Given the description of an element on the screen output the (x, y) to click on. 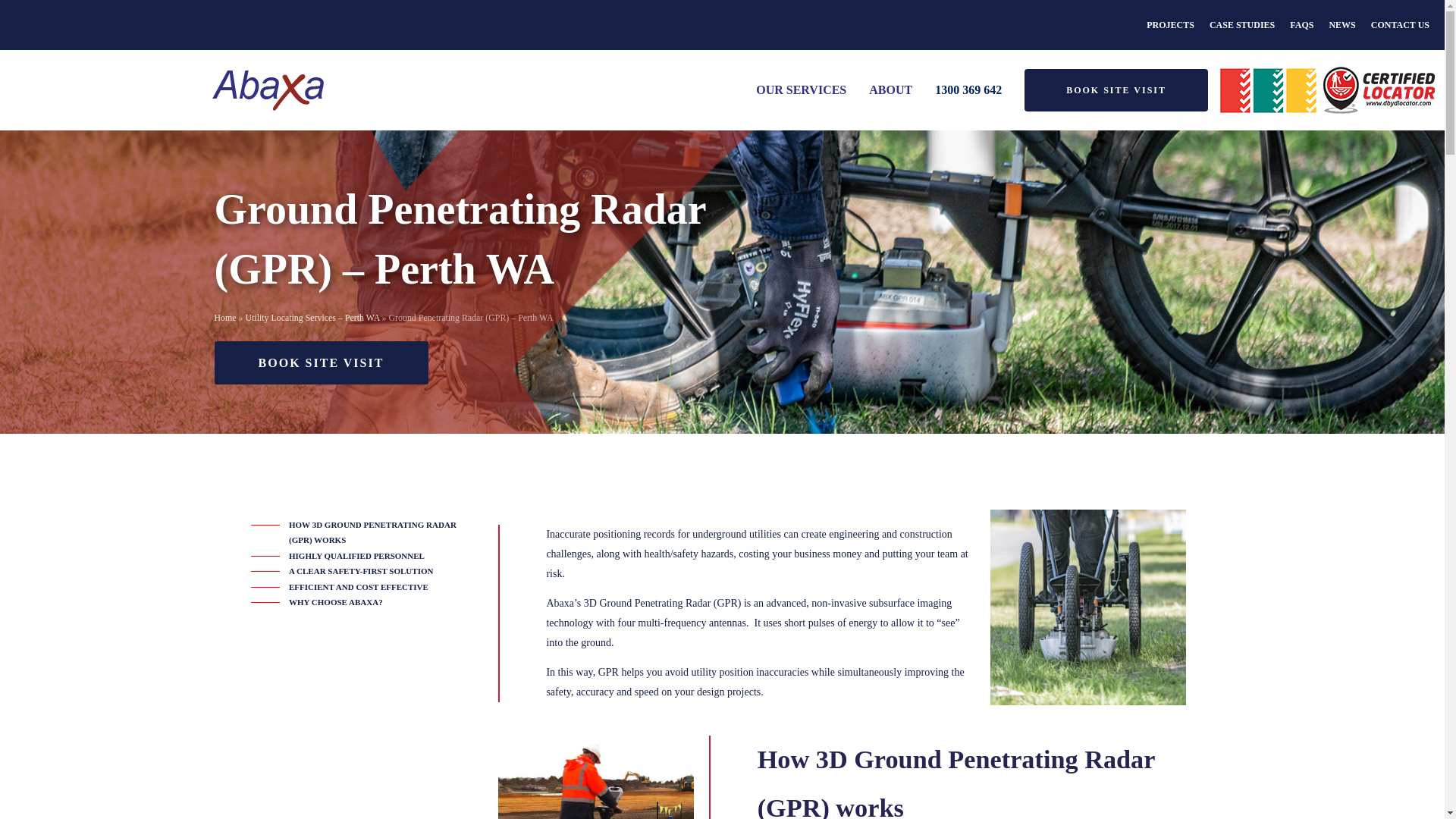
PROJECTS (1170, 24)
BOOK SITE VISIT (1116, 89)
NEWS (1341, 24)
ABOUT (890, 89)
CASE STUDIES (1242, 24)
OUR SERVICES (800, 89)
1300 369 642 (967, 89)
CONTACT US (1399, 24)
FAQS (1301, 24)
